Given the description of an element on the screen output the (x, y) to click on. 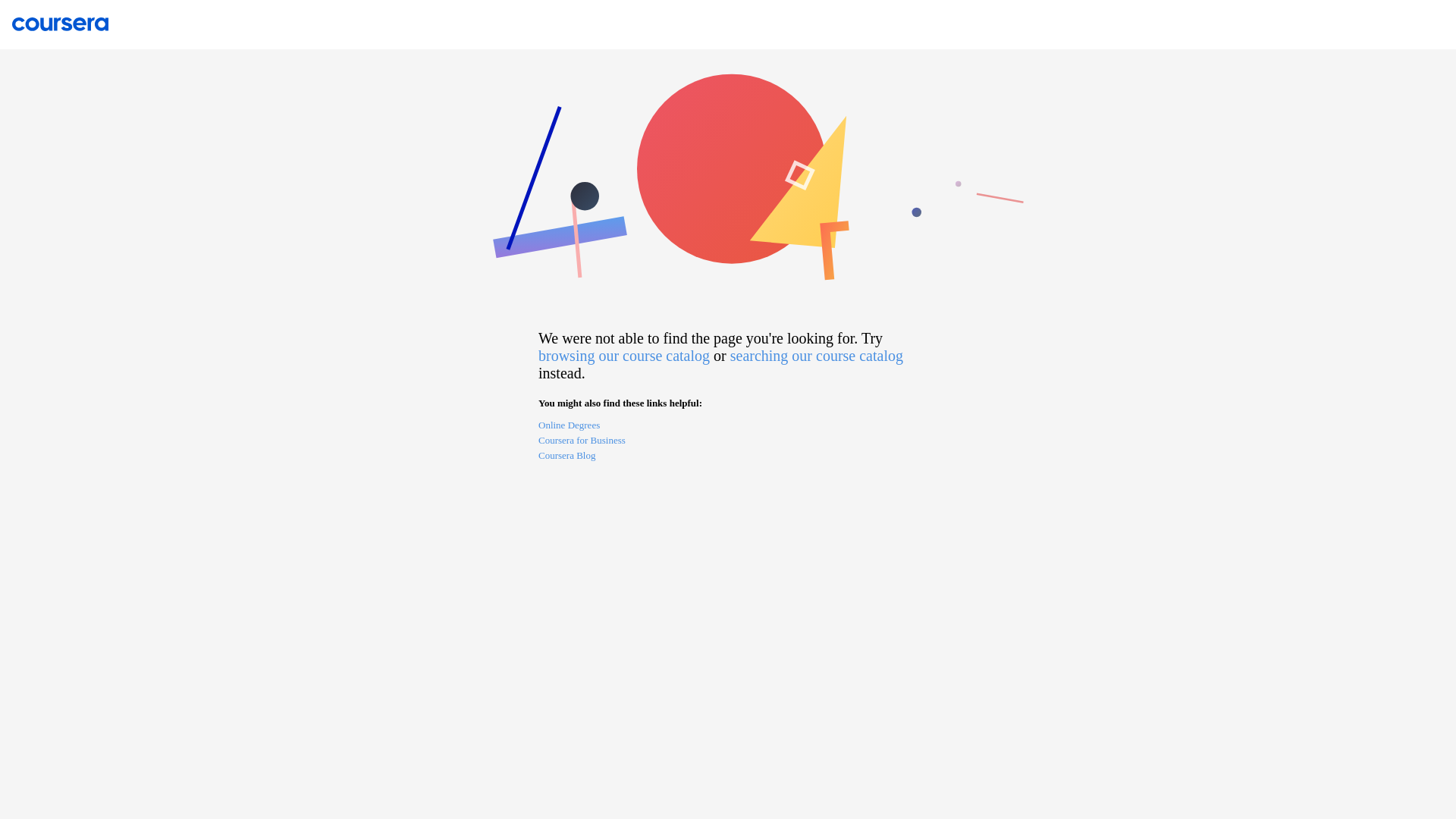
Coursera Blog (727, 457)
Coursera for Business (727, 441)
Online Degrees (727, 426)
browsing our course catalog (624, 355)
searching our course catalog (816, 355)
